Given the description of an element on the screen output the (x, y) to click on. 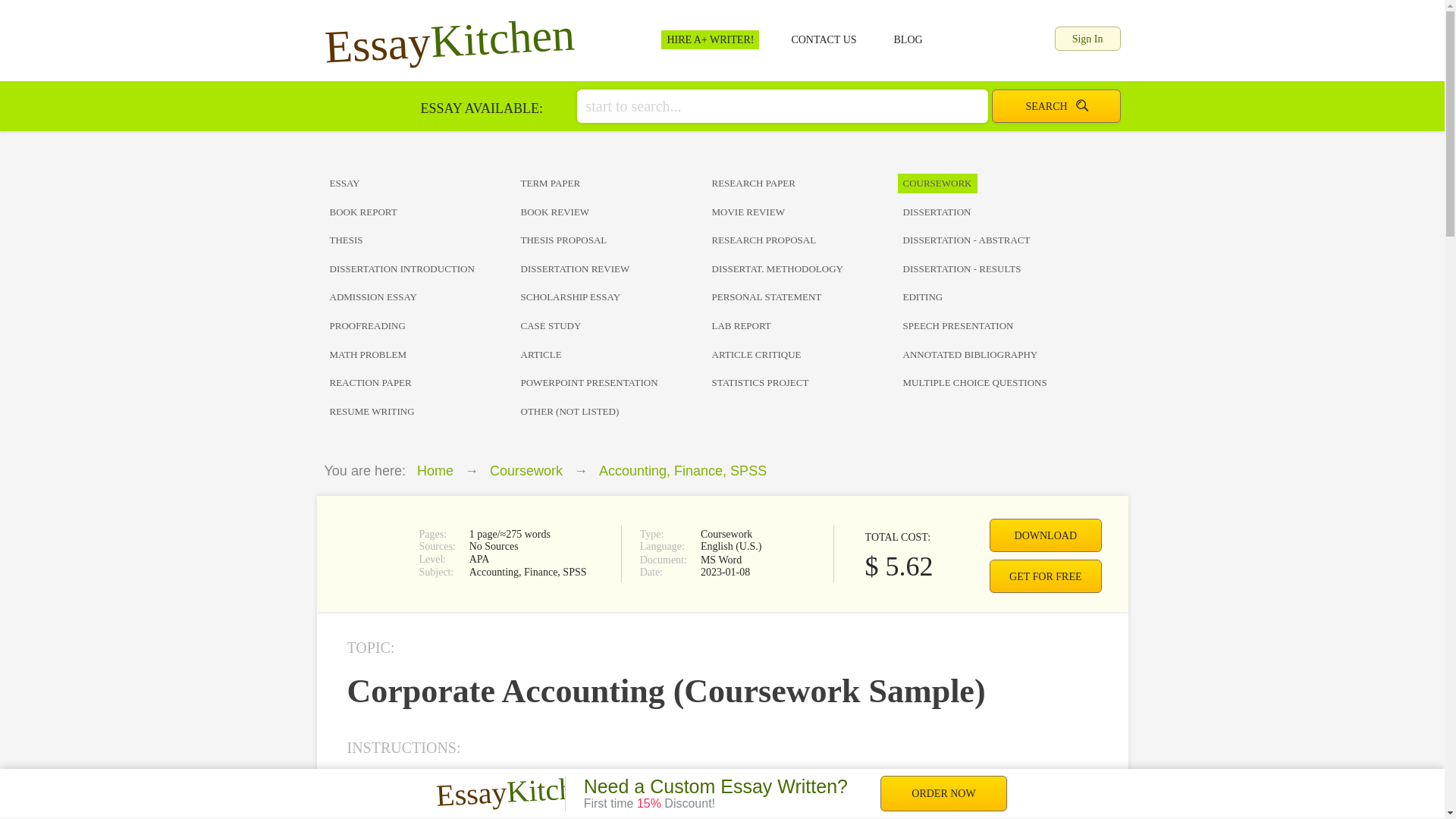
TERM PAPER (610, 183)
MS Word (370, 553)
DISSERTATION REVIEW (610, 268)
Search (1056, 105)
BOOK REVIEW (610, 212)
RESEARCH PAPER (802, 183)
Search (1056, 105)
Sign In (1087, 38)
BLOG (908, 39)
THESIS (419, 240)
